Given the description of an element on the screen output the (x, y) to click on. 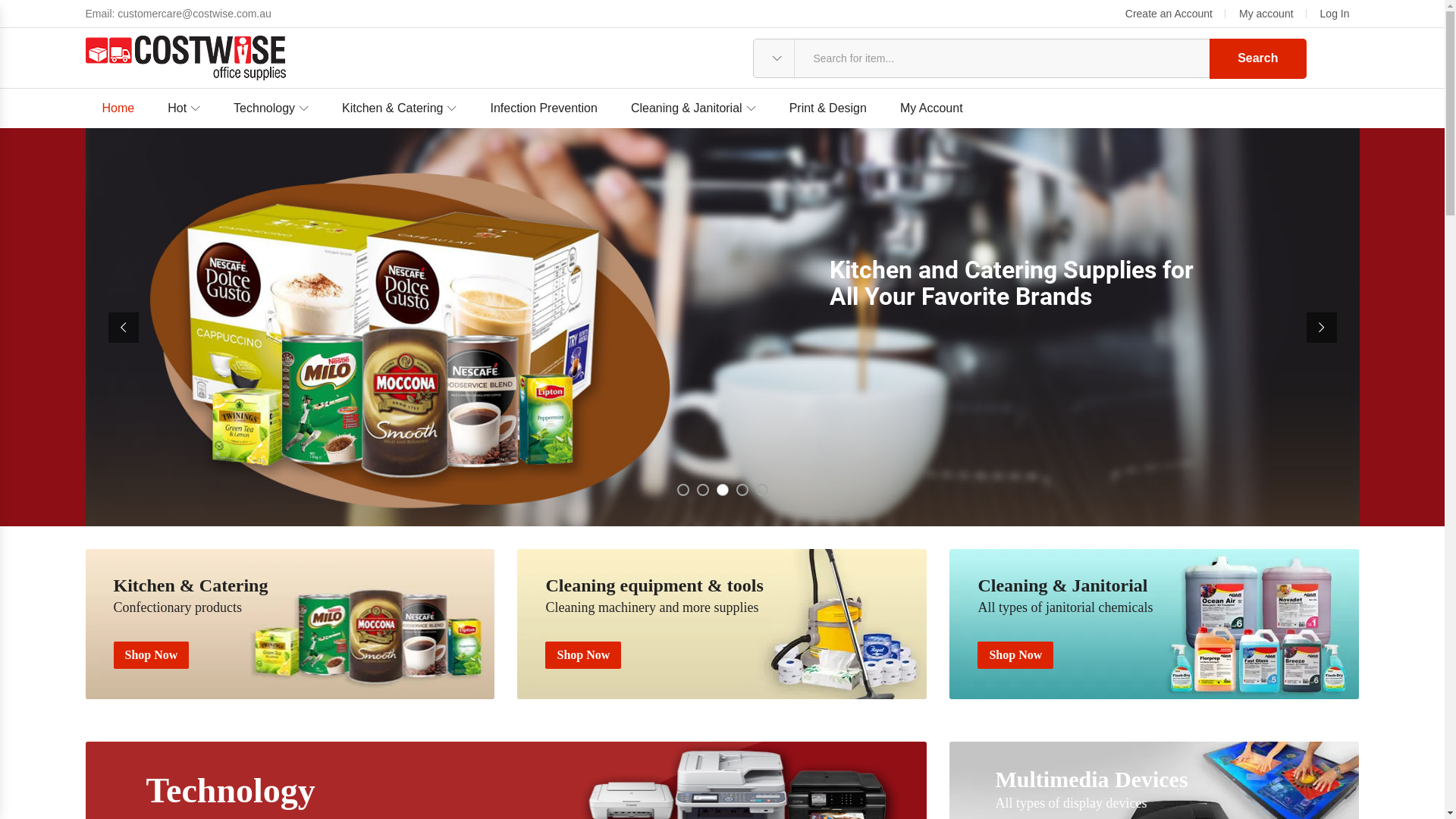
My Account Element type: text (931, 108)
Shop Now Element type: text (151, 654)
Home Element type: text (117, 108)
My account Element type: text (1262, 13)
Shop Now Element type: text (1015, 654)
Search Element type: text (1257, 57)
Cleaning & Janitorial Element type: text (693, 108)
Log In Element type: text (1331, 13)
Hot Element type: text (183, 108)
Create an Account Element type: text (1168, 13)
Technology Element type: text (270, 108)
Shop Now Element type: text (583, 654)
Print & Design Element type: text (827, 108)
Kitchen & Catering Element type: text (399, 108)
Infection Prevention Element type: text (543, 108)
